Given the description of an element on the screen output the (x, y) to click on. 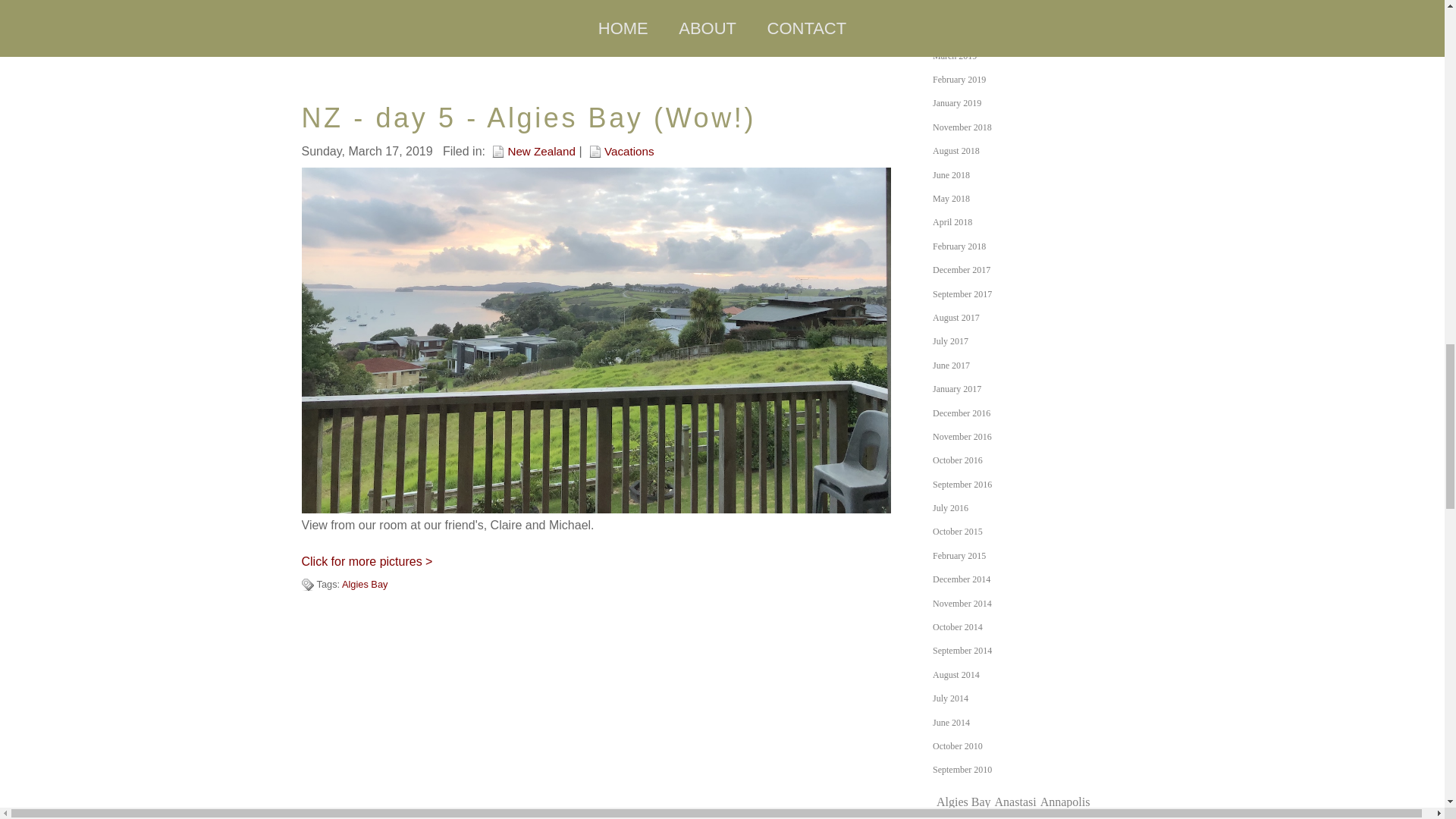
Annapolis Royal (1011, 807)
Anastasi (1015, 801)
Algies Bay (963, 801)
Algies Bay (364, 583)
Vacations (621, 150)
New Zealand (533, 150)
Wellington (415, 18)
Algies Bay (364, 18)
